Given the description of an element on the screen output the (x, y) to click on. 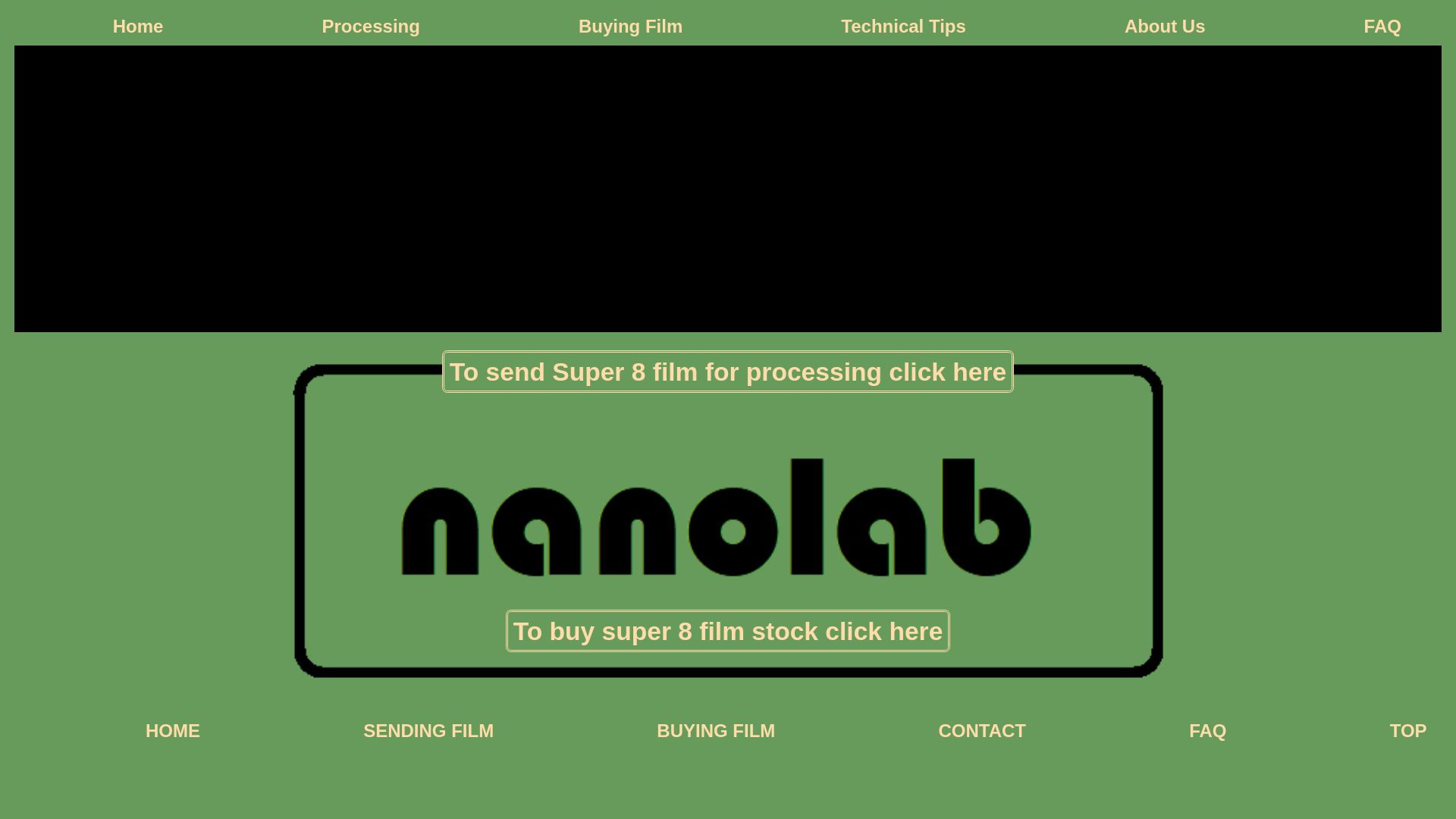
Home Element type: text (137, 26)
To buy super 8 film stock click here Element type: text (727, 630)
About Us Element type: text (1164, 26)
Buying Film Element type: text (630, 26)
To send Super 8 film for processing click here Element type: text (727, 371)
CONTACT Element type: text (981, 730)
SENDING FILM Element type: text (428, 730)
FAQ Element type: text (1207, 730)
Technical Tips Element type: text (903, 26)
Processing Element type: text (370, 26)
HOME Element type: text (172, 730)
BUYING FILM Element type: text (715, 730)
